Given the description of an element on the screen output the (x, y) to click on. 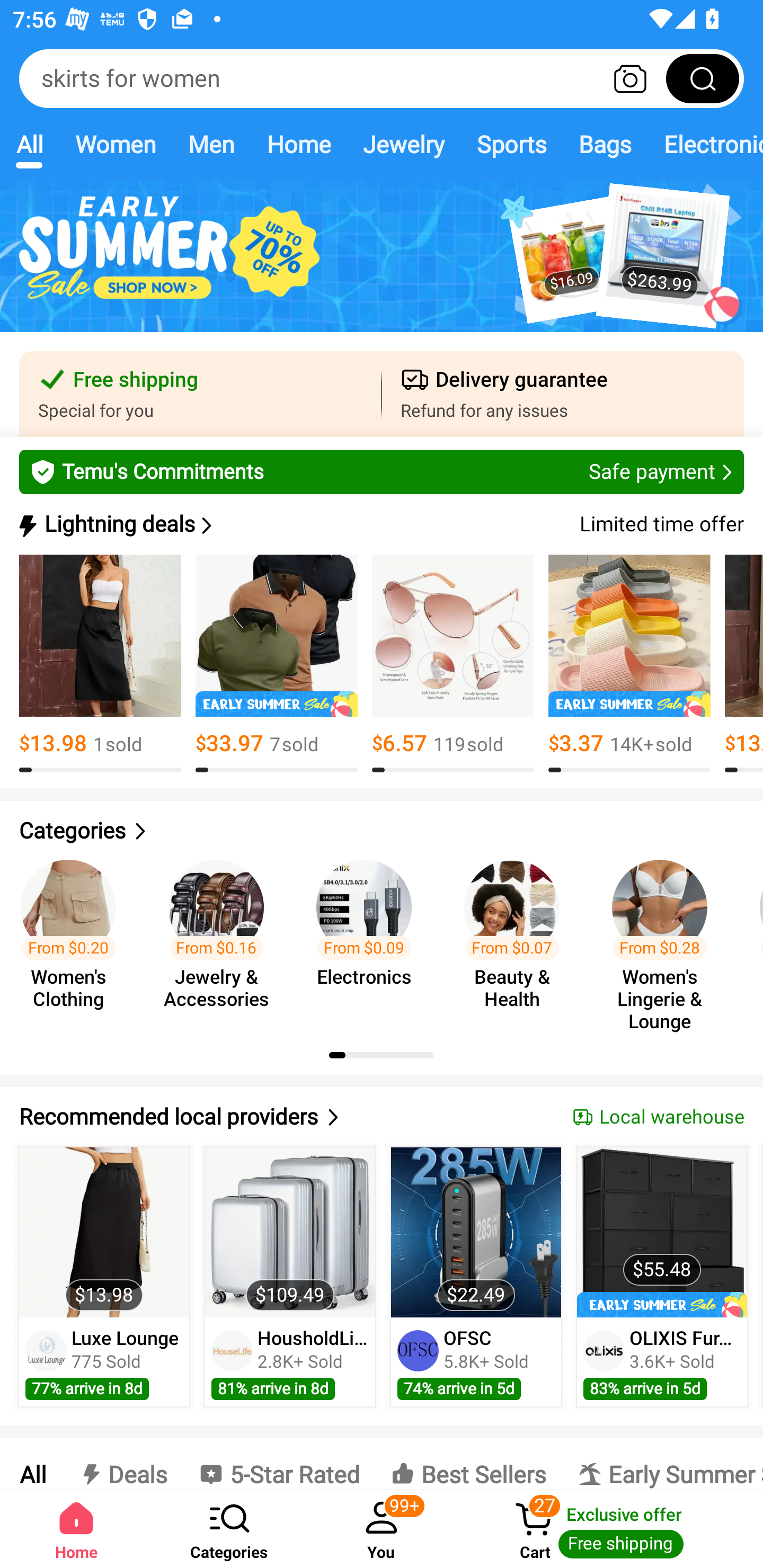
skirts for women (381, 78)
All (29, 144)
Women (115, 144)
Men (211, 144)
Home (298, 144)
Jewelry (403, 144)
Sports (511, 144)
Bags (605, 144)
Electronics (705, 144)
$16.09 $263.99 (381, 265)
Free shipping Special for you (200, 394)
Delivery guarantee Refund for any issues (562, 394)
Temu's Commitments (381, 471)
Lightning deals Lightning deals Limited time offer (379, 524)
$13.98 1￼sold 8.0 (100, 664)
$33.97 7￼sold 8.0 (276, 664)
$6.57 119￼sold 8.0 (453, 664)
$3.37 14K+￼sold 8.0 (629, 664)
Categories (381, 830)
From $0.20 Women's Clothing (74, 936)
From $0.16 Jewelry & Accessories (222, 936)
From $0.09 Electronics (369, 936)
From $0.07 Beauty & Health (517, 936)
From $0.28 Women's Lingerie & Lounge (665, 936)
$13.98 Luxe Lounge 775 Sold 77% arrive in 8d (103, 1276)
$109.49 HousholdLife 2.8K+ Sold 81% arrive in 8d (289, 1276)
$22.49 OFSC 5.8K+ Sold 74% arrive in 5d (475, 1276)
$13.98 (104, 1232)
$109.49 (290, 1232)
$22.49 (475, 1232)
$55.48 (661, 1232)
All (32, 1463)
Deals Deals Deals (122, 1463)
5-Star Rated 5-Star Rated 5-Star Rated (279, 1463)
Best Sellers Best Sellers Best Sellers (468, 1463)
Home (76, 1528)
Categories (228, 1528)
You ‎99+‎ You (381, 1528)
Cart 27 Cart Exclusive offer (610, 1528)
